Given the description of an element on the screen output the (x, y) to click on. 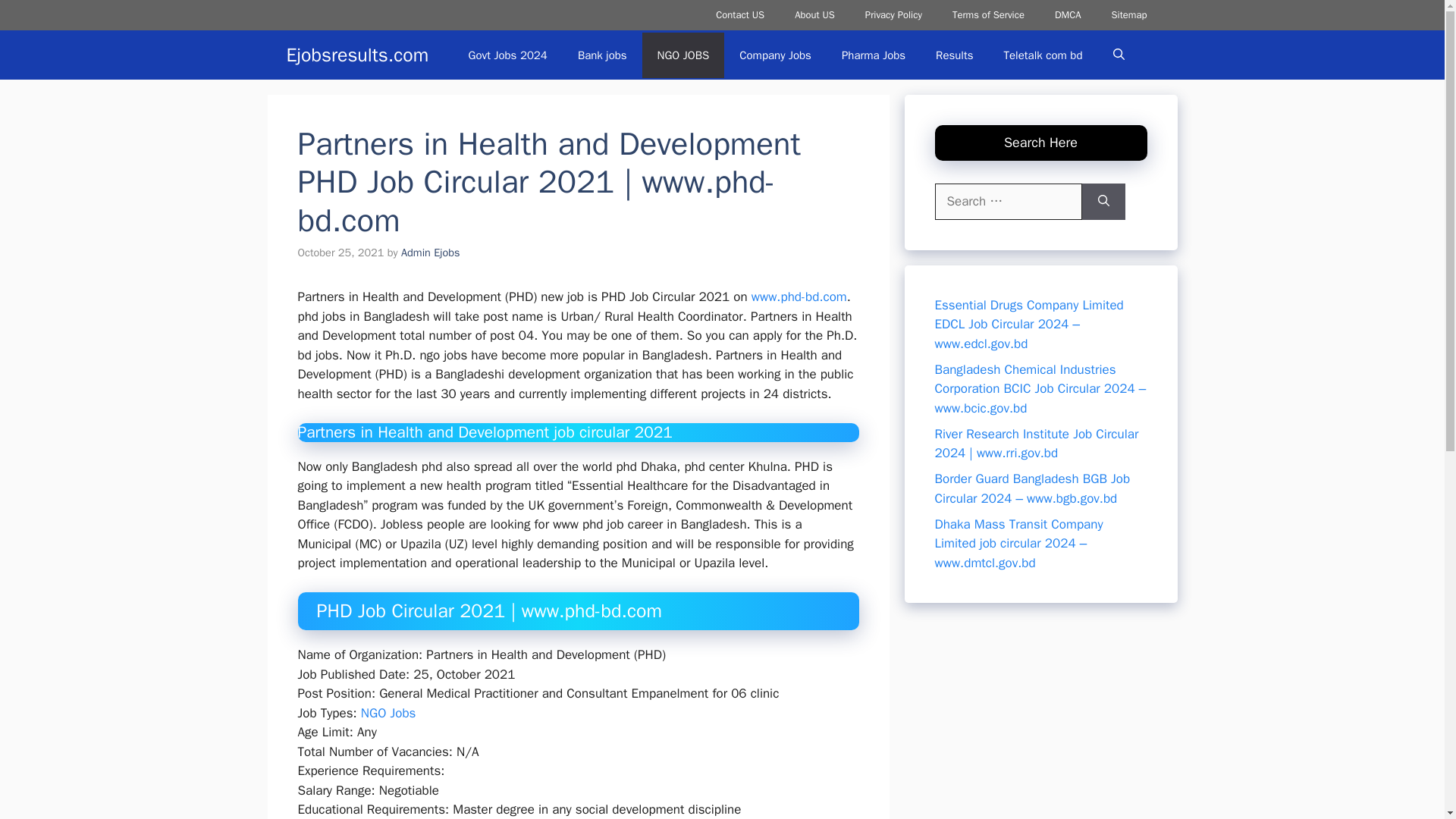
DMCA (1067, 15)
NGO JOBS (683, 53)
www.phd-bd.com (799, 296)
Company Jobs (775, 53)
View all posts by Admin Ejobs (430, 252)
Pharma Jobs (873, 53)
Sitemap (1128, 15)
Bank jobs (602, 53)
About US (814, 15)
Privacy Policy (893, 15)
Contact US (739, 15)
NGO Jobs (388, 713)
Ejobsresults.com (357, 54)
Govt Jobs 2024 (507, 53)
Teletalk com bd (1042, 53)
